Given the description of an element on the screen output the (x, y) to click on. 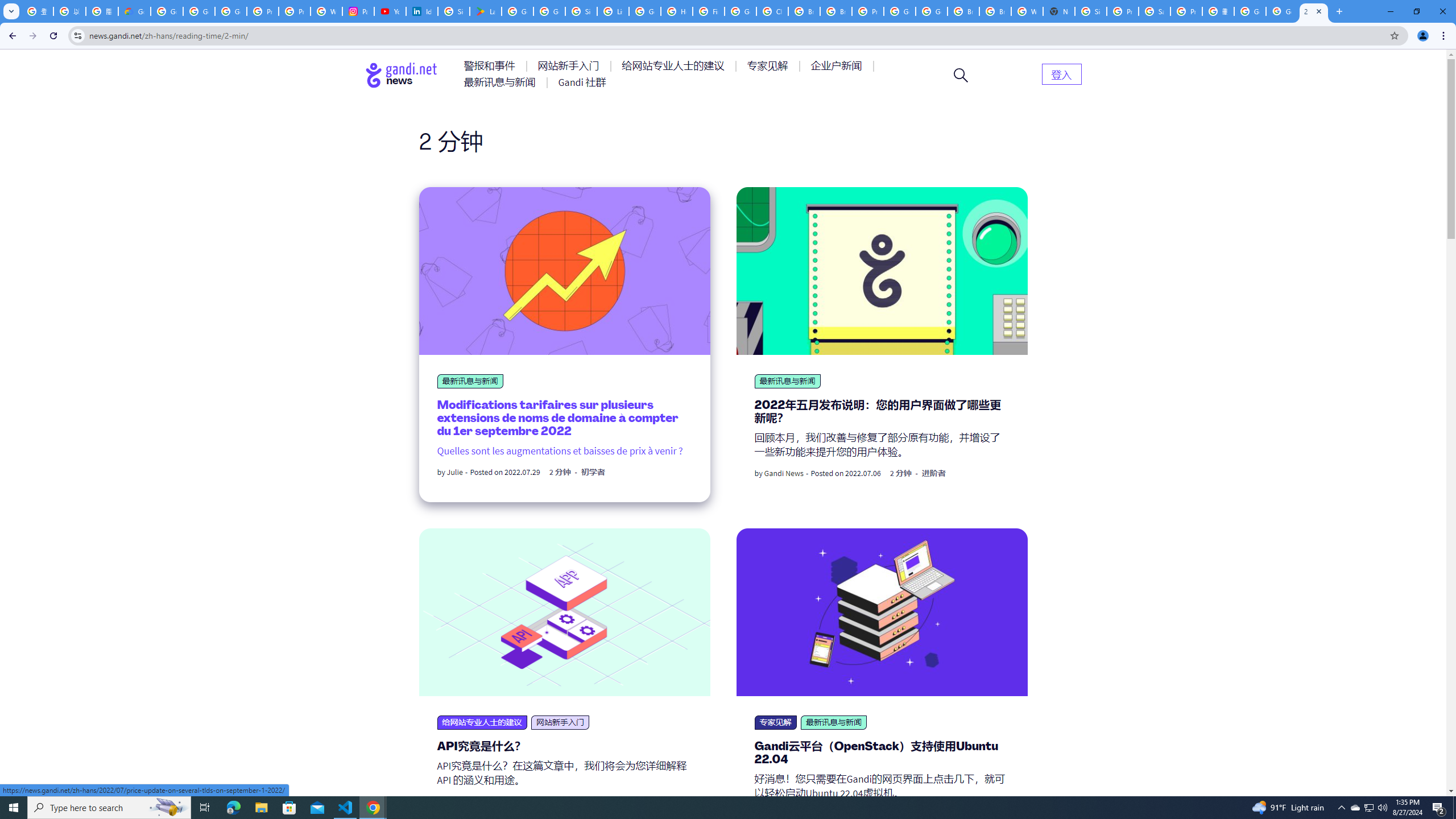
Browse Chrome as a guest - Computer - Google Chrome Help (963, 11)
Last Shelter: Survival - Apps on Google Play (485, 11)
Google Cloud Platform (931, 11)
AutomationID: menu-item-77766 (502, 82)
New Tab (1059, 11)
Sign in - Google Accounts (581, 11)
